Given the description of an element on the screen output the (x, y) to click on. 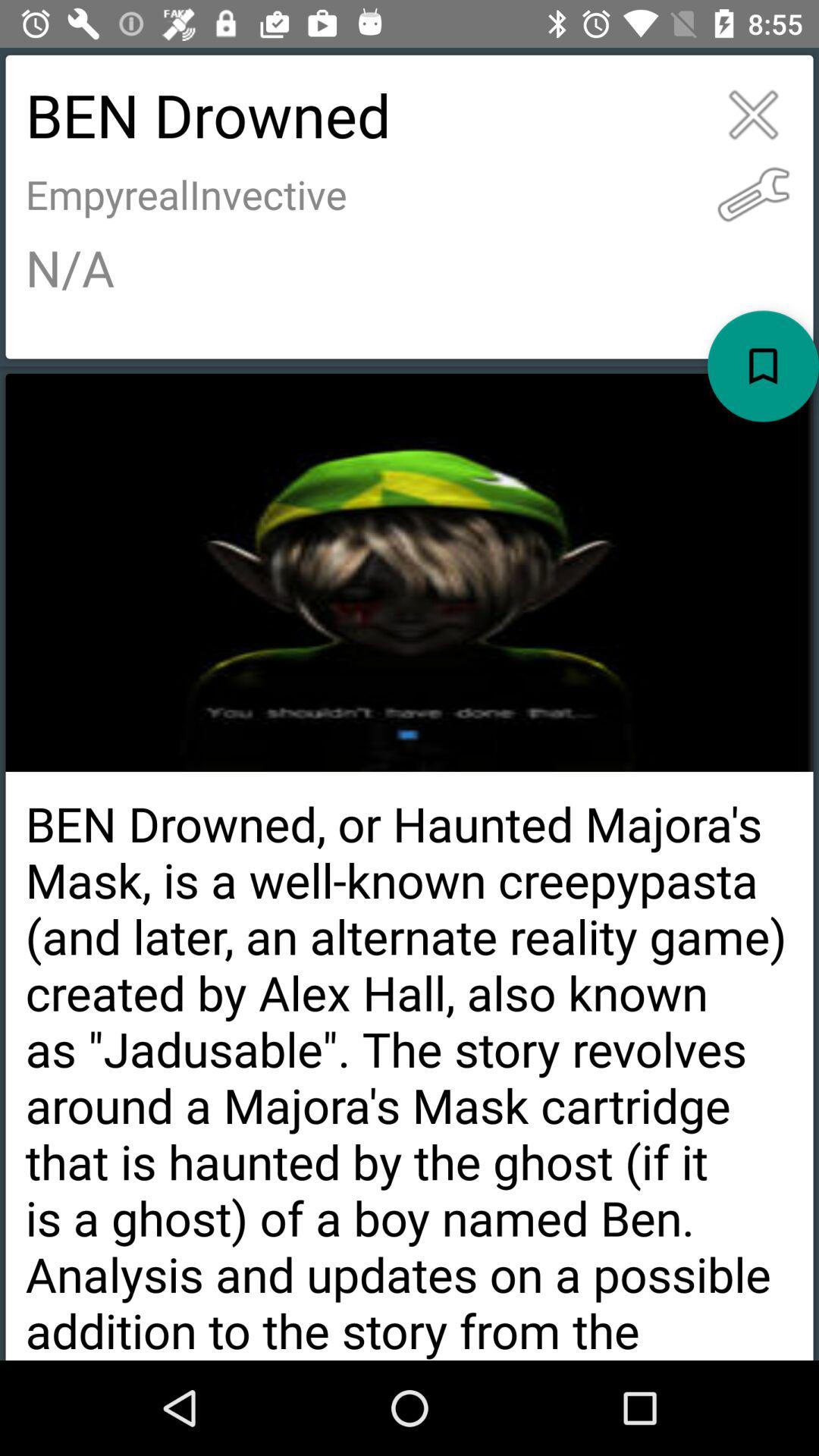
launch icon below the ben drowned item (753, 194)
